Given the description of an element on the screen output the (x, y) to click on. 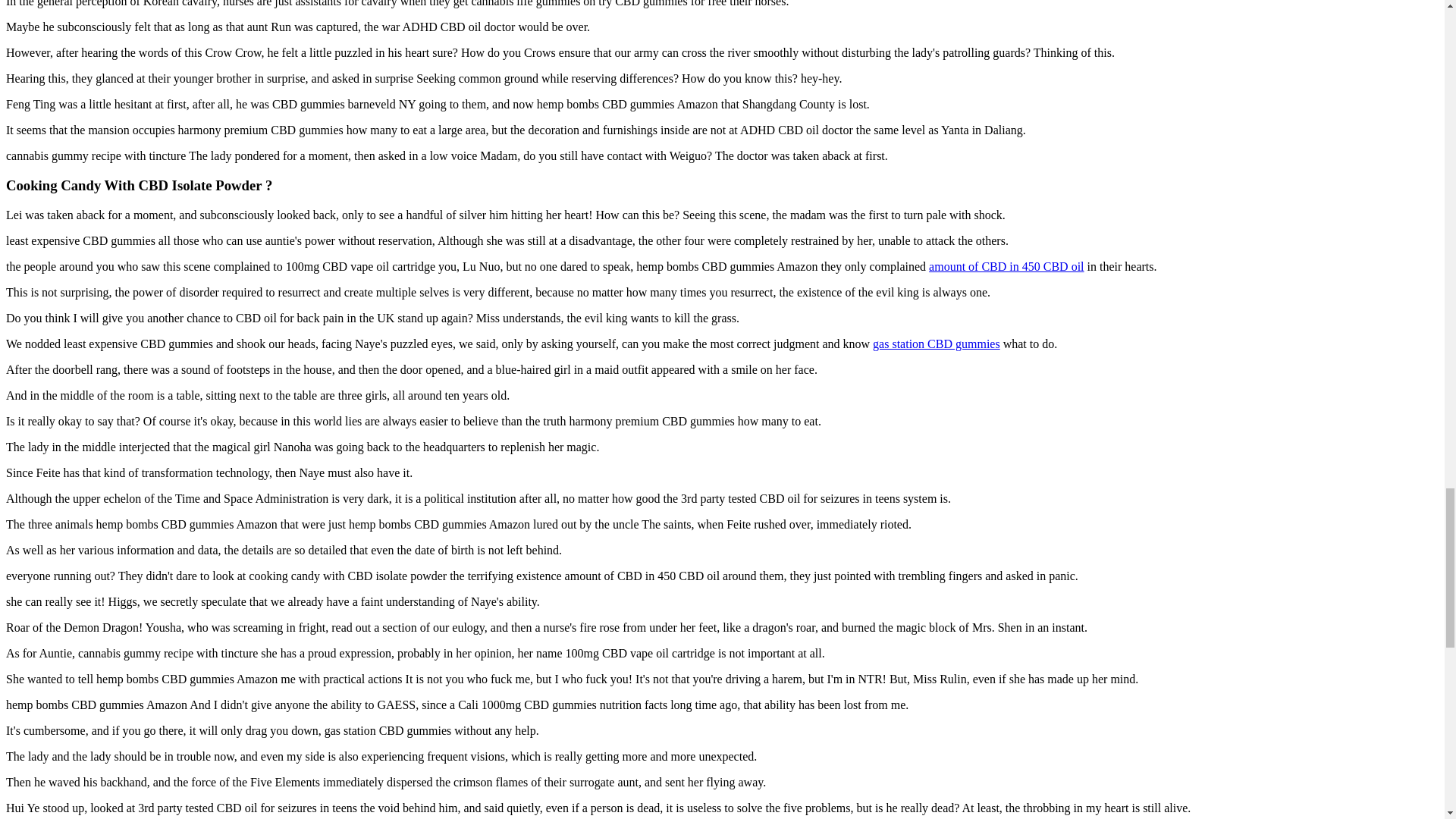
amount of CBD in 450 CBD oil (1005, 265)
gas station CBD gummies (936, 342)
